Given the description of an element on the screen output the (x, y) to click on. 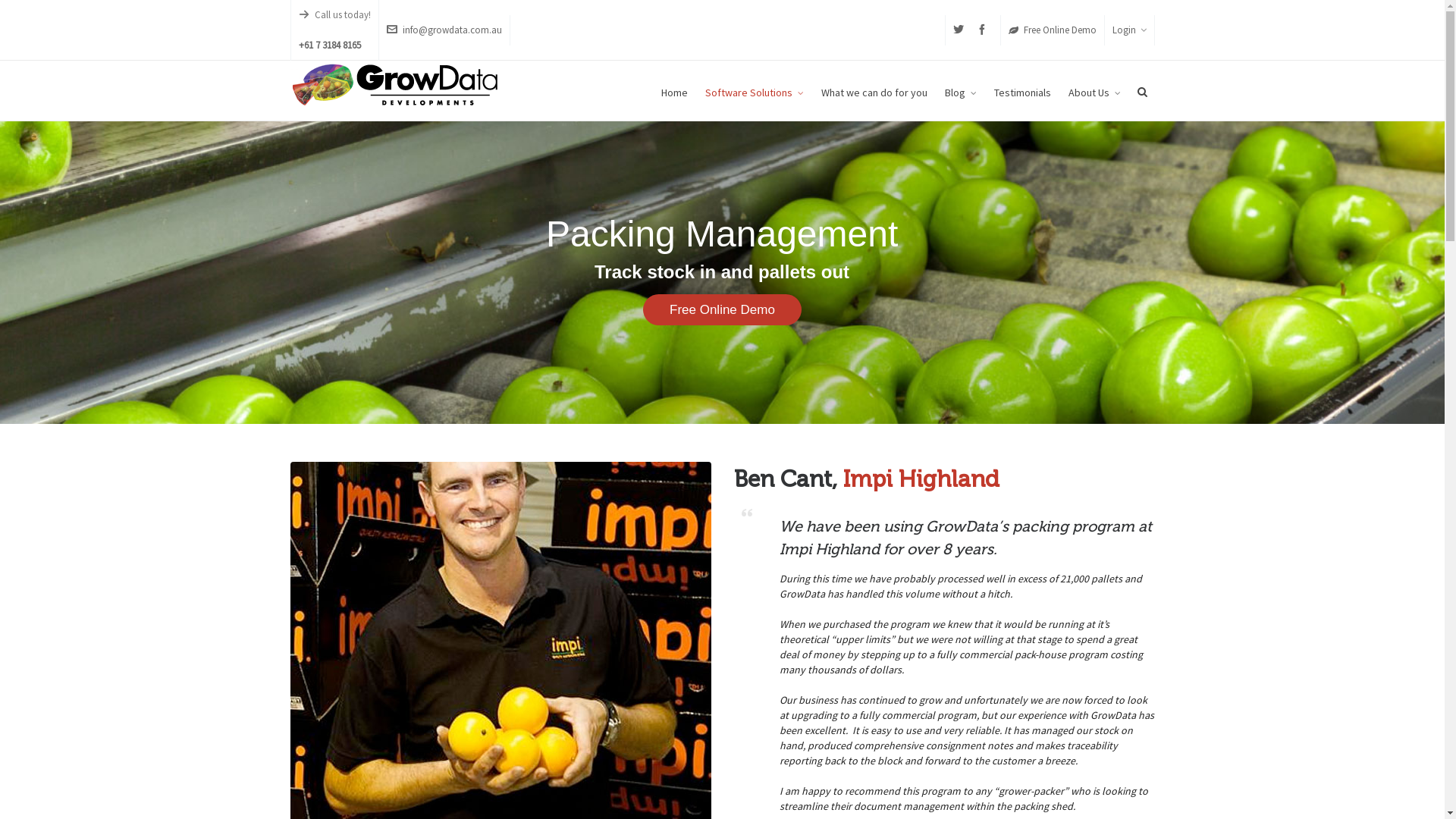
What we can do for you Element type: text (873, 90)
Home Element type: text (673, 90)
Testimonials Element type: text (1022, 90)
Free Online Demo Element type: text (1052, 30)
Blog Element type: text (959, 90)
Login Element type: text (1128, 30)
info@growdata.com.au Element type: text (444, 30)
+61 7 3184 8165 Element type: text (334, 45)
About Us Element type: text (1094, 90)
Software Solutions Element type: text (753, 90)
Free Online Demo Element type: text (722, 309)
